Given the description of an element on the screen output the (x, y) to click on. 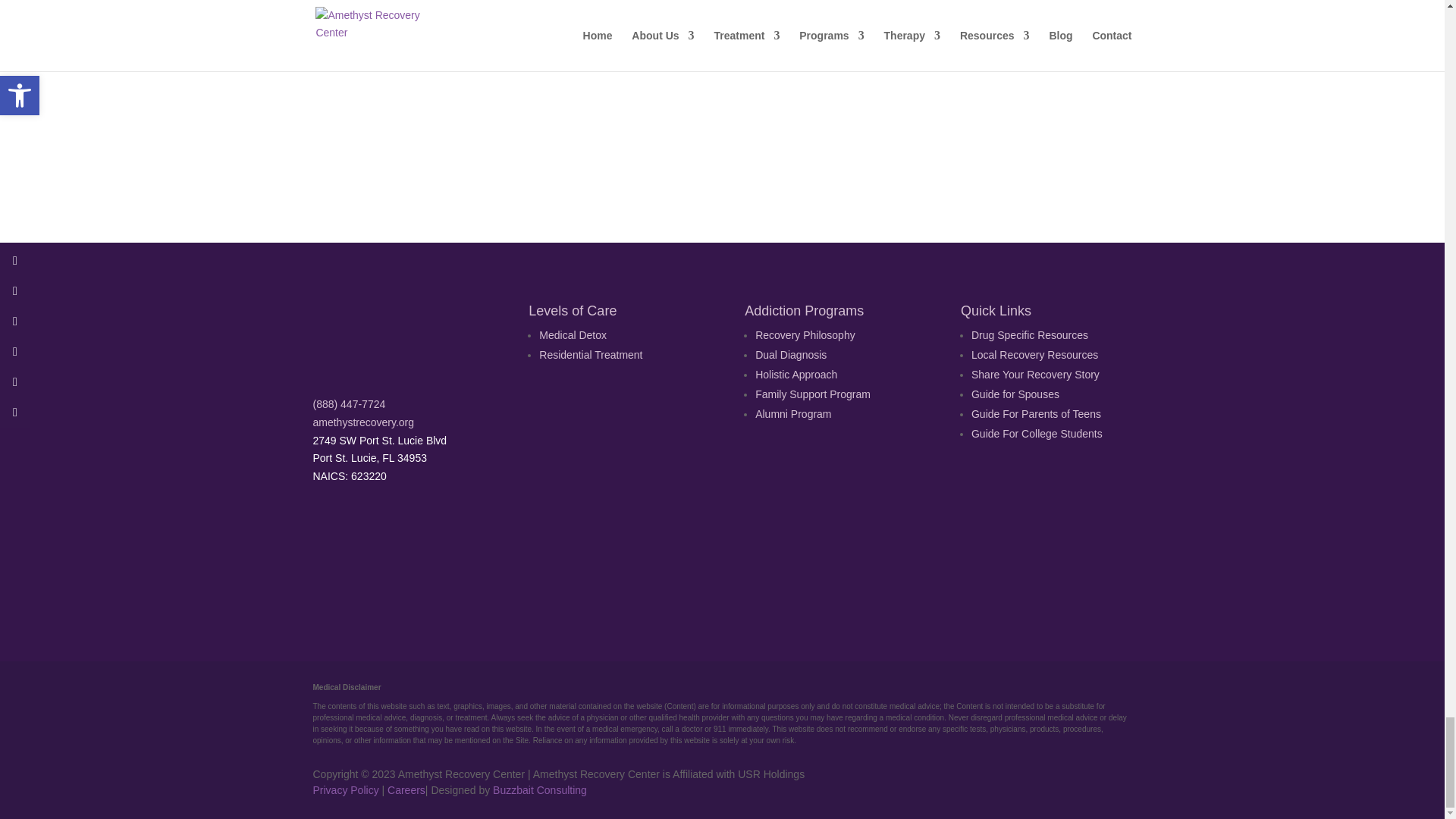
Verify LegitScript Approval (648, 574)
dcf-logo2 (793, 544)
joint-commission-png-100 (506, 544)
logo-light-sm (388, 338)
